Given the description of an element on the screen output the (x, y) to click on. 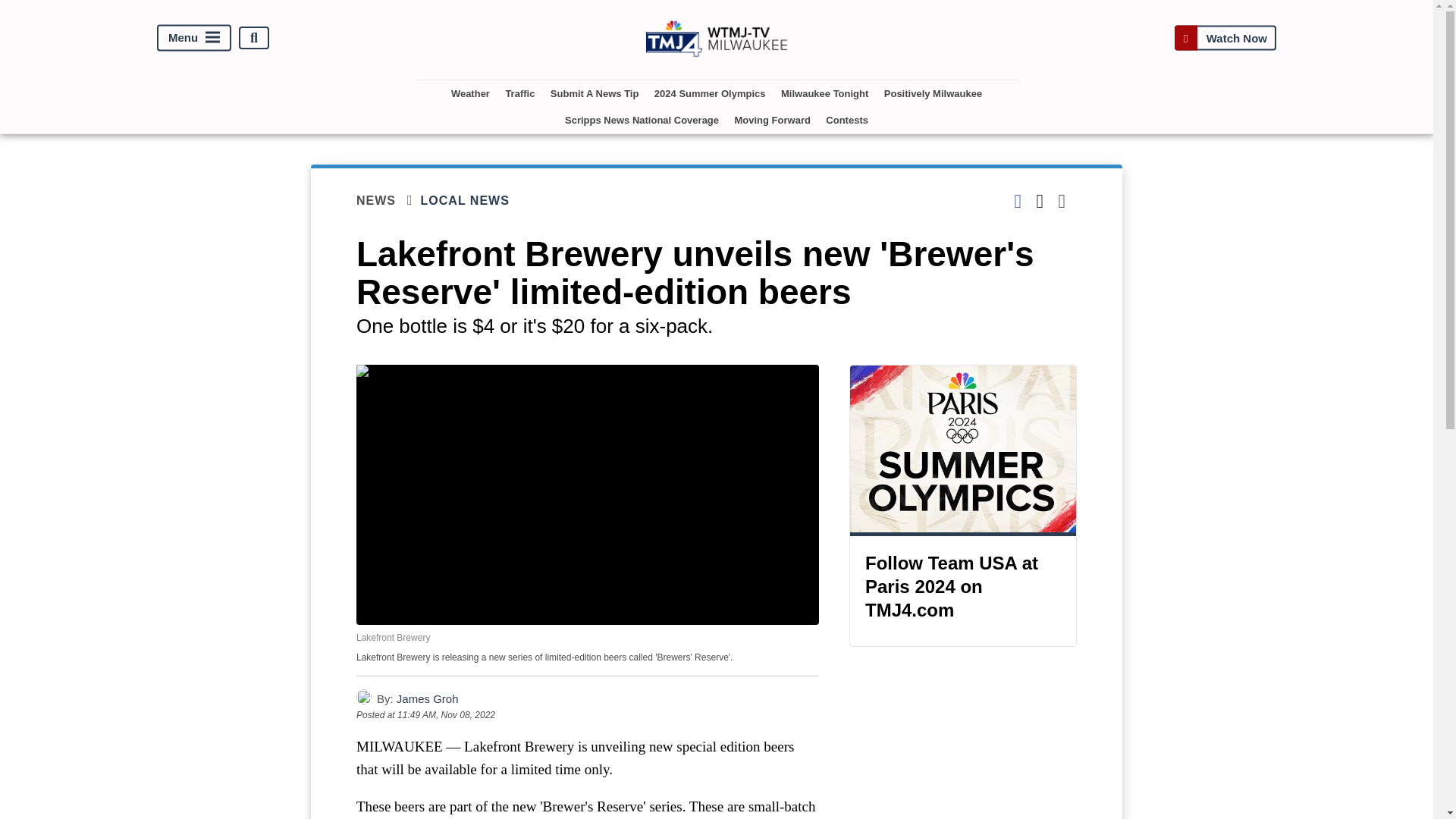
Watch Now (1224, 38)
Menu (194, 38)
